Given the description of an element on the screen output the (x, y) to click on. 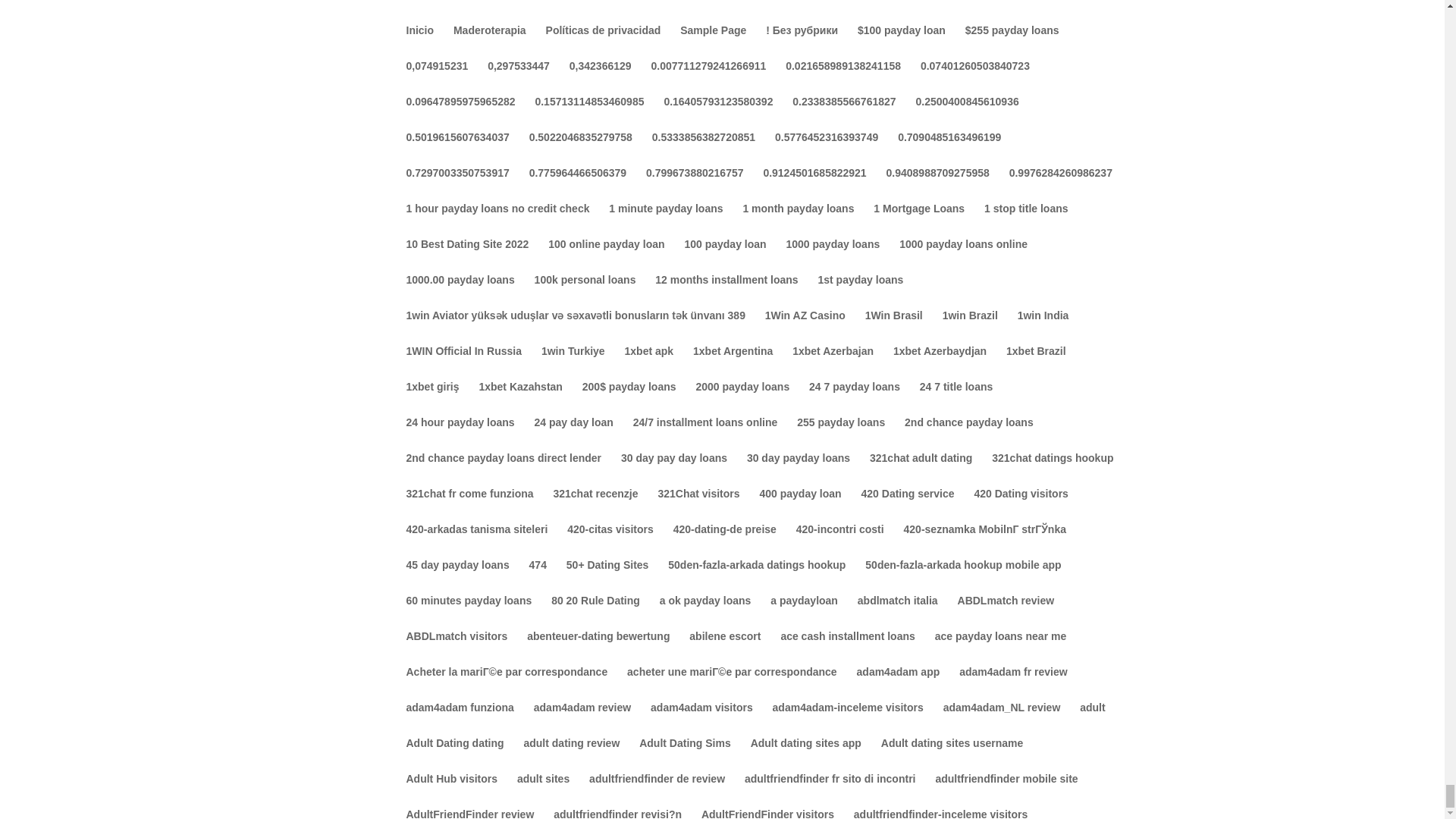
Premium WordPress Themes (419, 797)
